Given the description of an element on the screen output the (x, y) to click on. 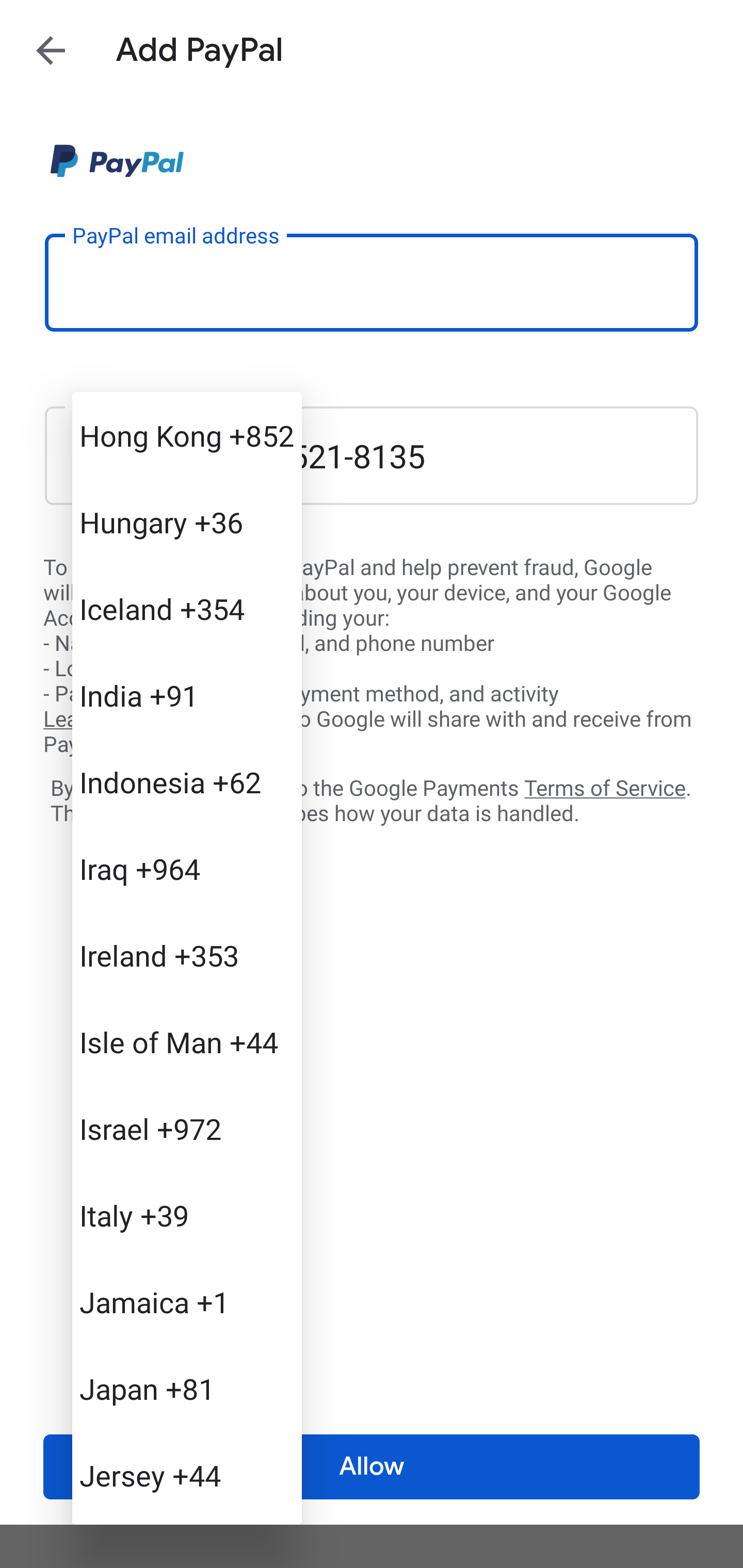
Hong Kong +852 (186, 435)
Hungary +36 (186, 522)
Iceland +354 (186, 609)
India +91 (186, 695)
Indonesia +62 (186, 781)
Iraq +964 (186, 868)
Ireland +353 (186, 955)
Isle of Man +44 (186, 1041)
Israel +972 (186, 1128)
Italy +39 (186, 1215)
Jamaica +1 (186, 1302)
Japan +81 (186, 1388)
Jersey +44 (186, 1474)
